Given the description of an element on the screen output the (x, y) to click on. 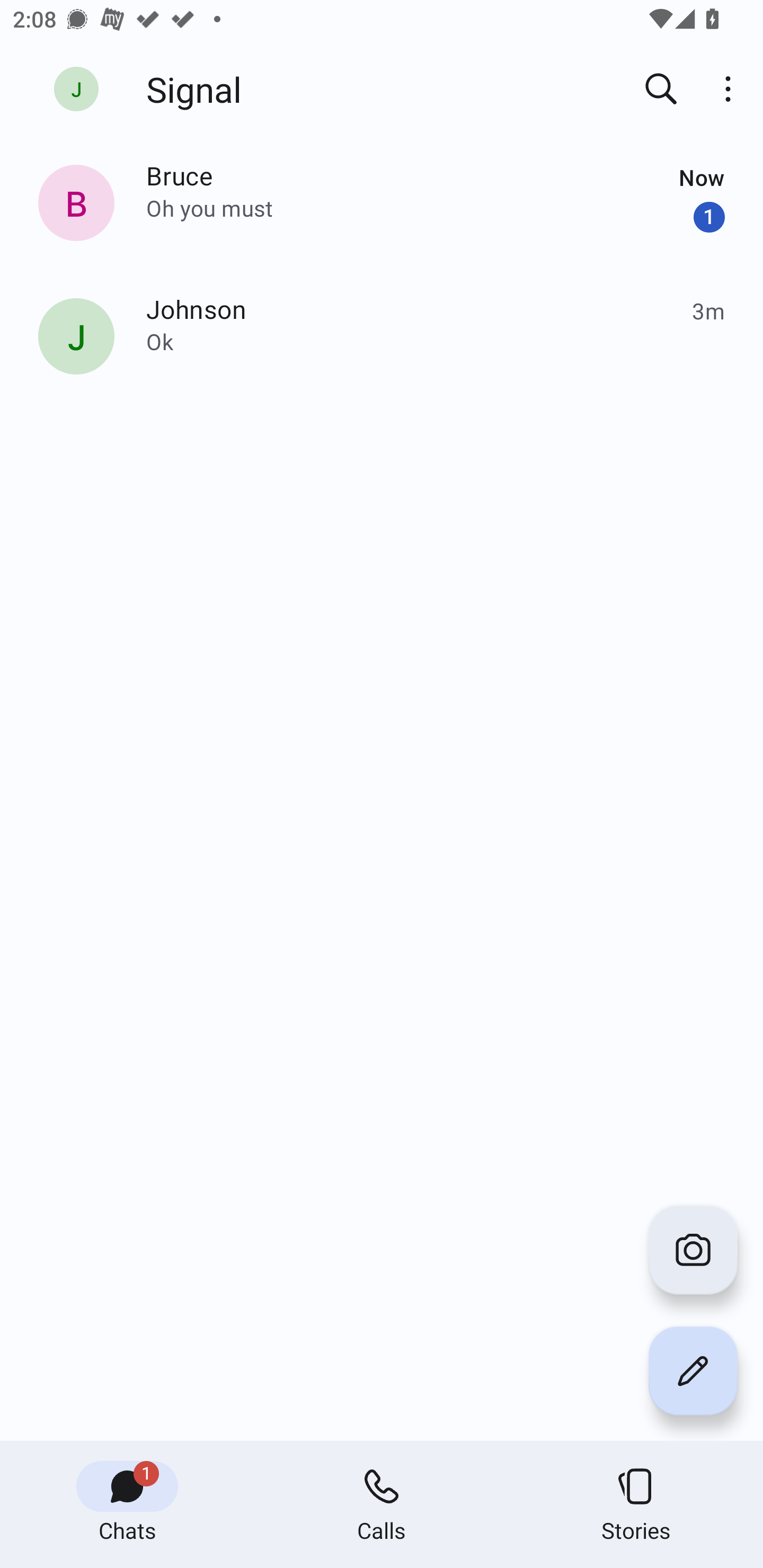
Contact Photo Image Bruce Now Badge Oh you must 1 (381, 205)
